Given the description of an element on the screen output the (x, y) to click on. 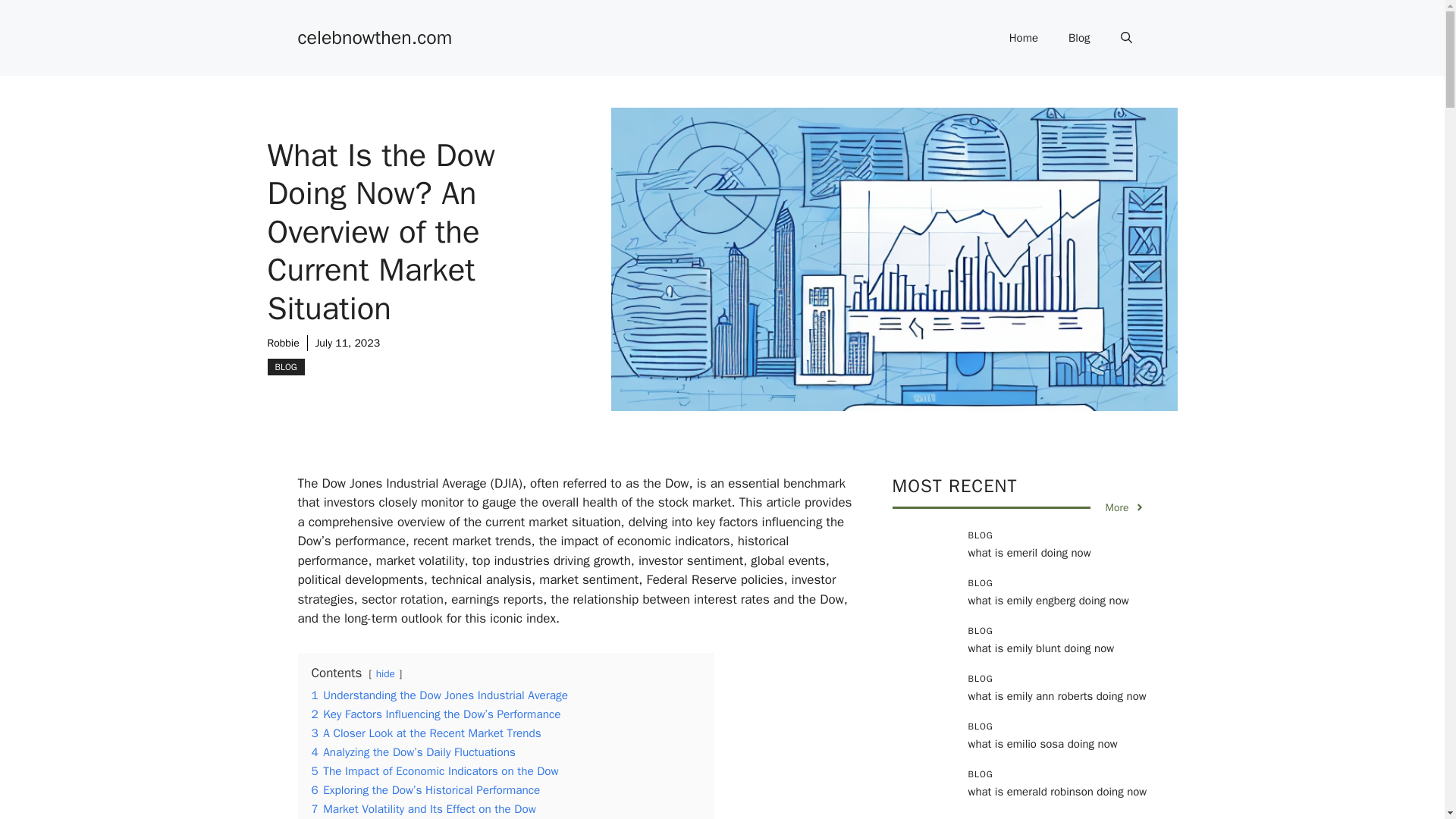
1 Understanding the Dow Jones Industrial Average (439, 694)
hide (384, 673)
Robbie (282, 342)
what is emily ann roberts doing now (1056, 695)
celebnowthen.com (374, 37)
what is emily blunt doing now (1040, 648)
More (1124, 507)
what is emeril doing now (1029, 552)
what is emily engberg doing now (1048, 600)
3 A Closer Look at the Recent Market Trends (425, 733)
7 Market Volatility and Its Effect on the Dow (423, 808)
Blog (1078, 37)
BLOG (285, 366)
5 The Impact of Economic Indicators on the Dow (434, 770)
Home (1023, 37)
